Given the description of an element on the screen output the (x, y) to click on. 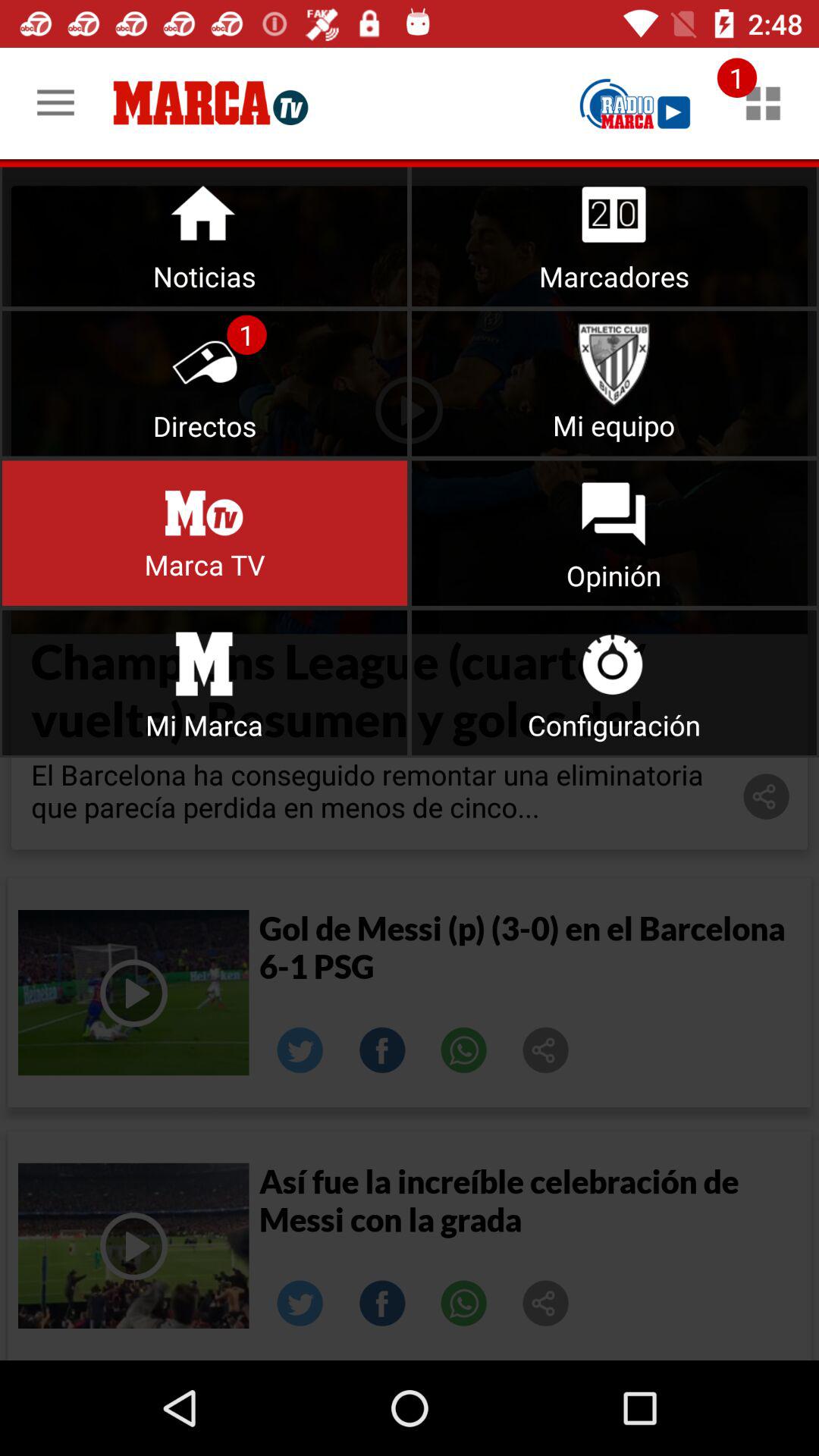
share it on whatsapp (464, 1050)
